Given the description of an element on the screen output the (x, y) to click on. 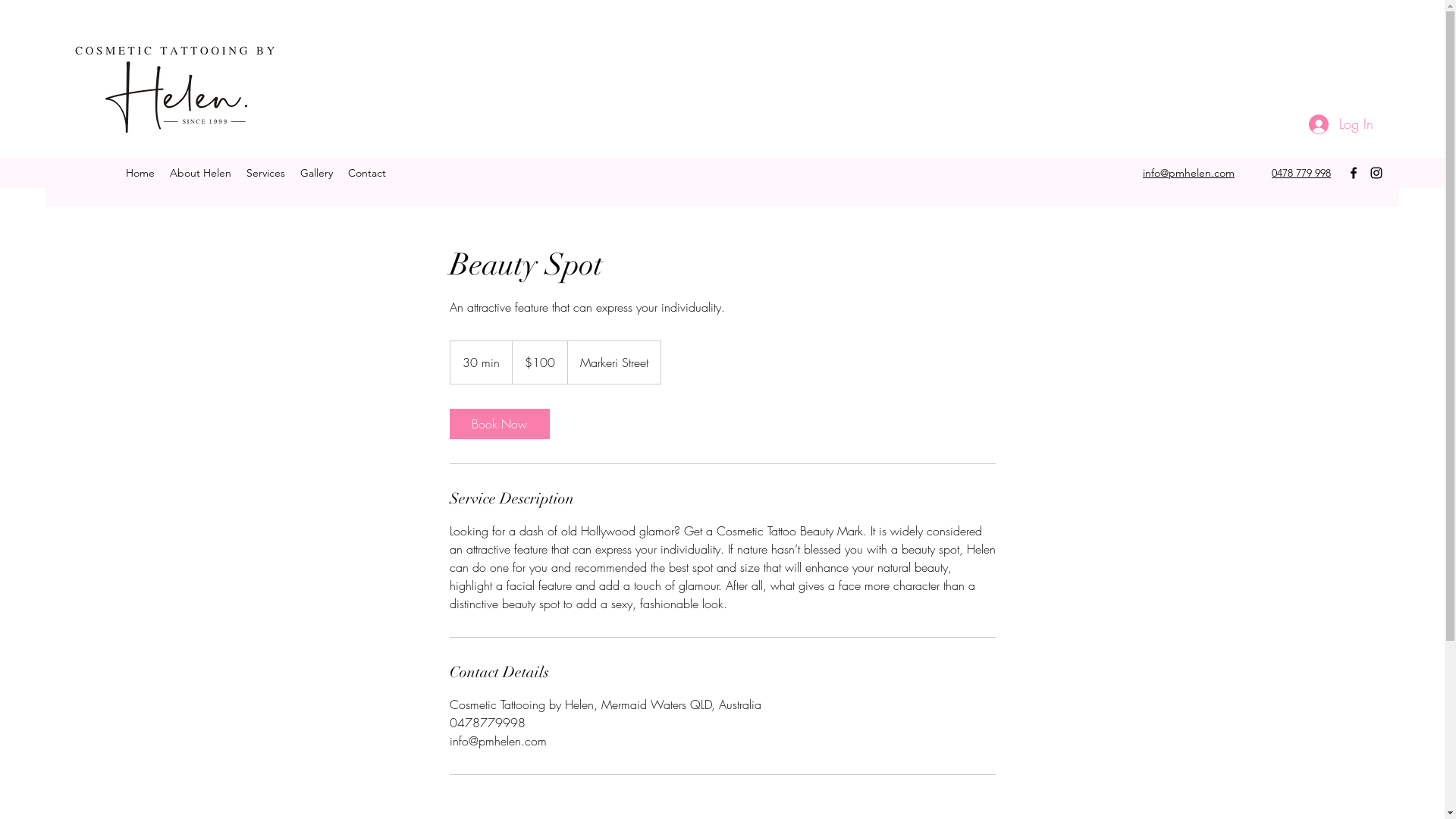
About Helen Element type: text (200, 172)
Book Now Element type: text (498, 423)
info@pmhelen.com Element type: text (1188, 172)
Contact Element type: text (366, 172)
Gallery Element type: text (316, 172)
0478 779 998 Element type: text (1300, 172)
Services Element type: text (265, 172)
Home Element type: text (140, 172)
Log In Element type: text (1340, 124)
